Given the description of an element on the screen output the (x, y) to click on. 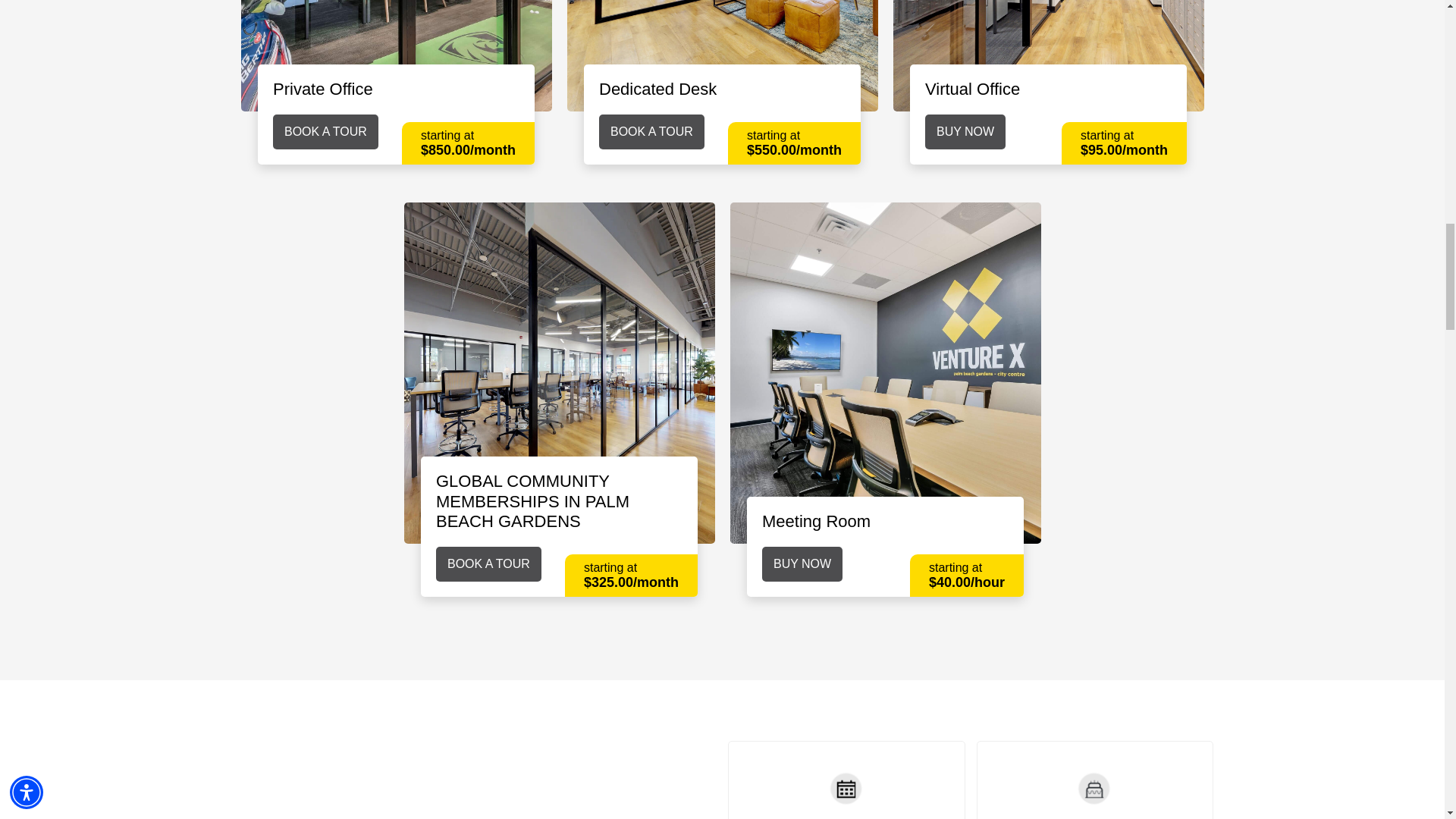
BOOK A TOUR (325, 131)
